Given the description of an element on the screen output the (x, y) to click on. 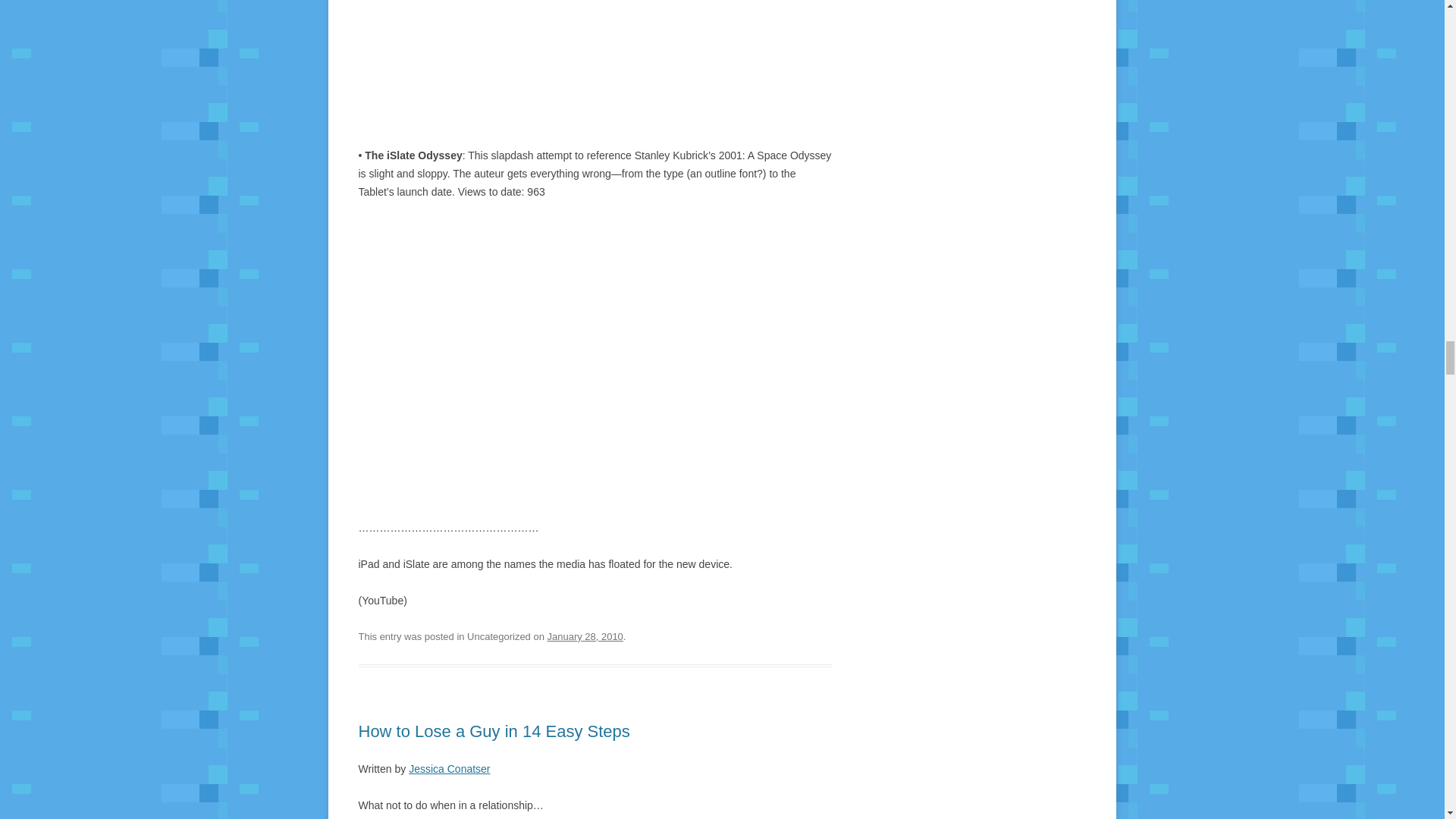
6:31 pm (585, 636)
